Given the description of an element on the screen output the (x, y) to click on. 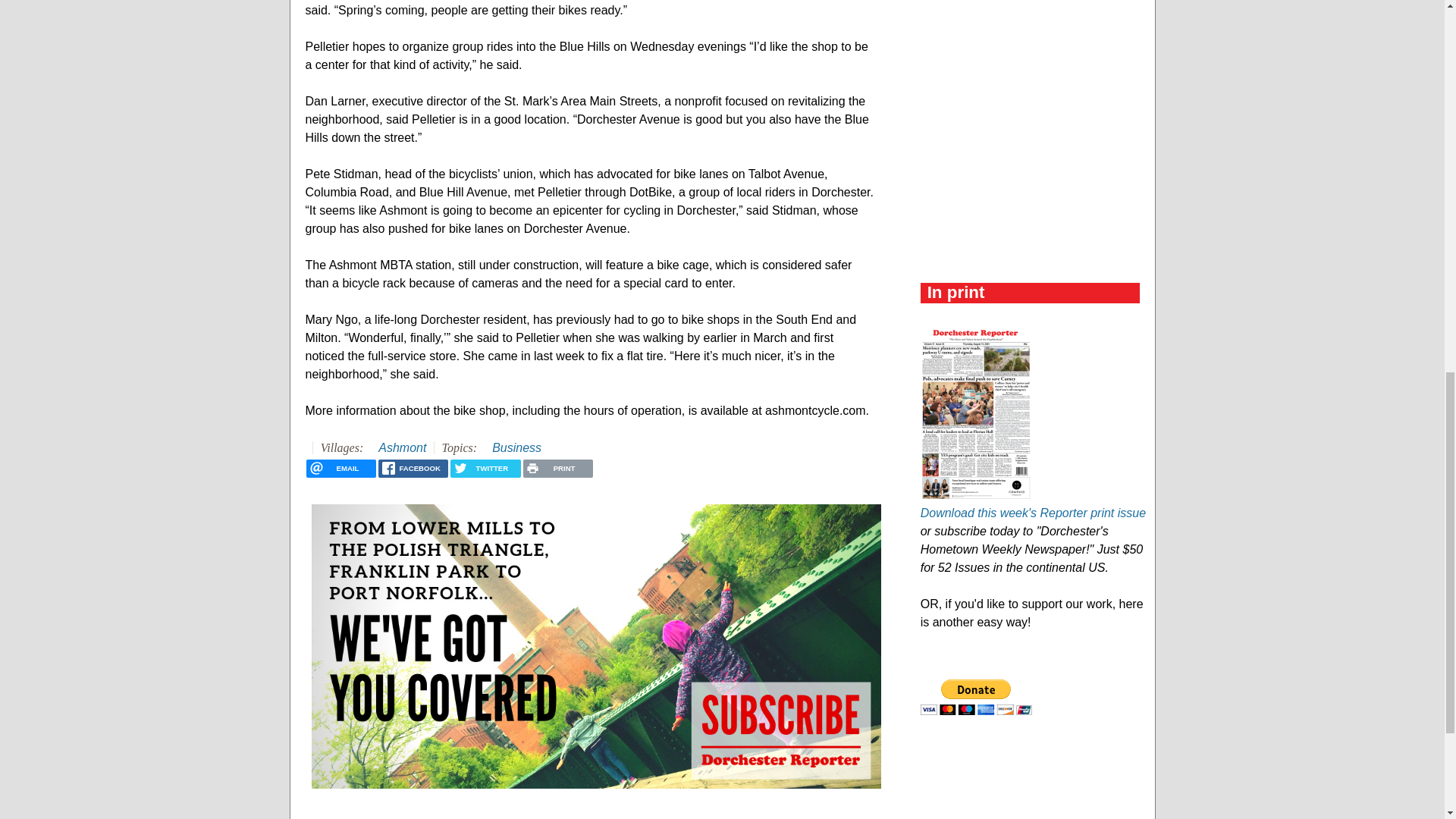
Business (516, 447)
log in (325, 815)
Ashmont (402, 447)
EMAIL (340, 468)
PRINT (557, 468)
PayPal - The safer, easier way to pay online! (976, 696)
FACEBOOK (413, 468)
3rd party ad content (1034, 31)
Download this week's Reporter print issue (1032, 512)
TWITTER (484, 468)
